Given the description of an element on the screen output the (x, y) to click on. 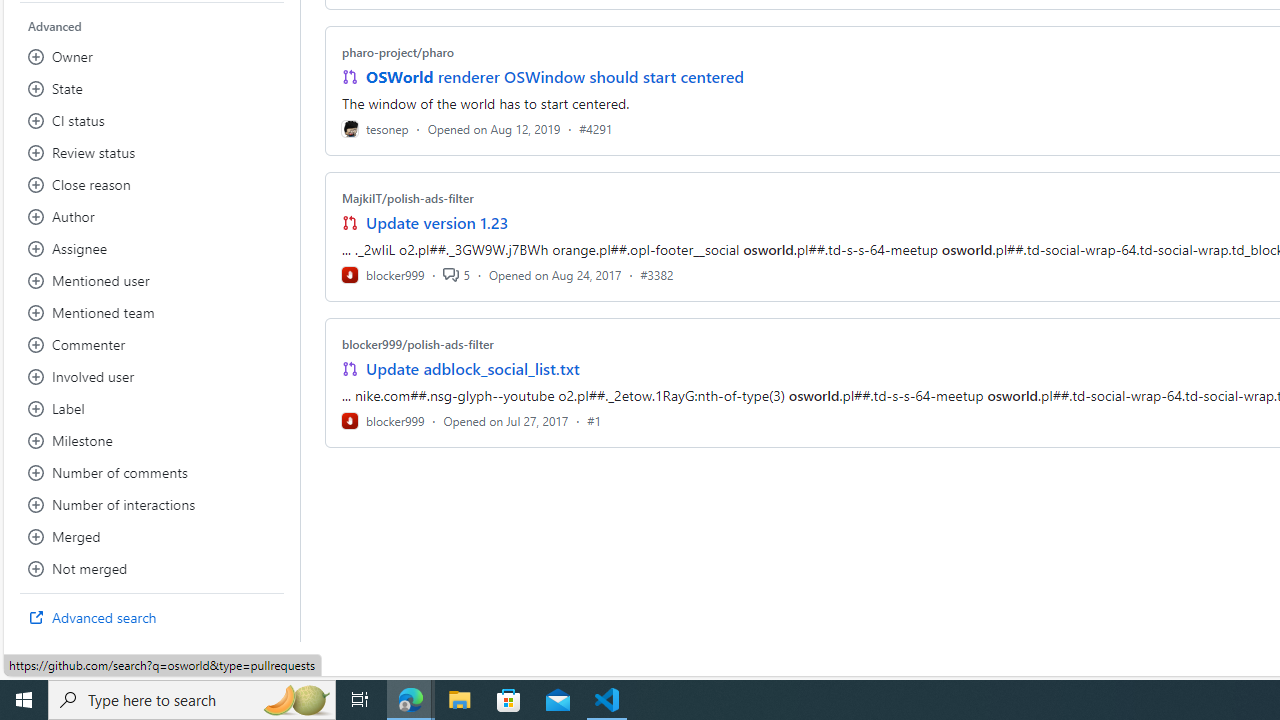
pharo-project/pharo (397, 52)
blocker999/polish-ads-filter (417, 343)
OSWorld renderer OSWindow should start centered (554, 76)
#3382 (657, 273)
